Given the description of an element on the screen output the (x, y) to click on. 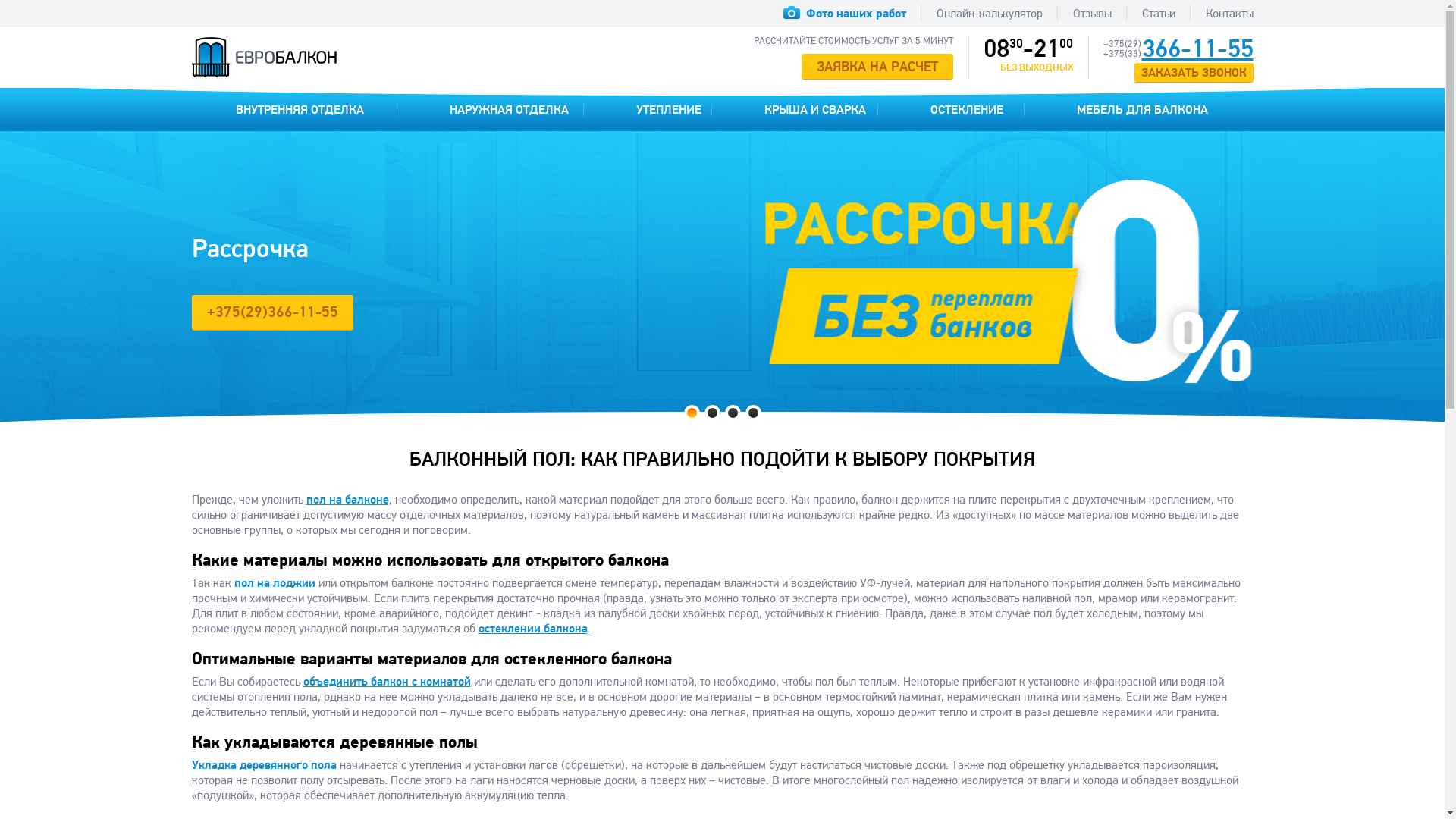
366-11-55 Element type: text (1197, 48)
+375(29)366-11-55 Element type: text (271, 311)
